Given the description of an element on the screen output the (x, y) to click on. 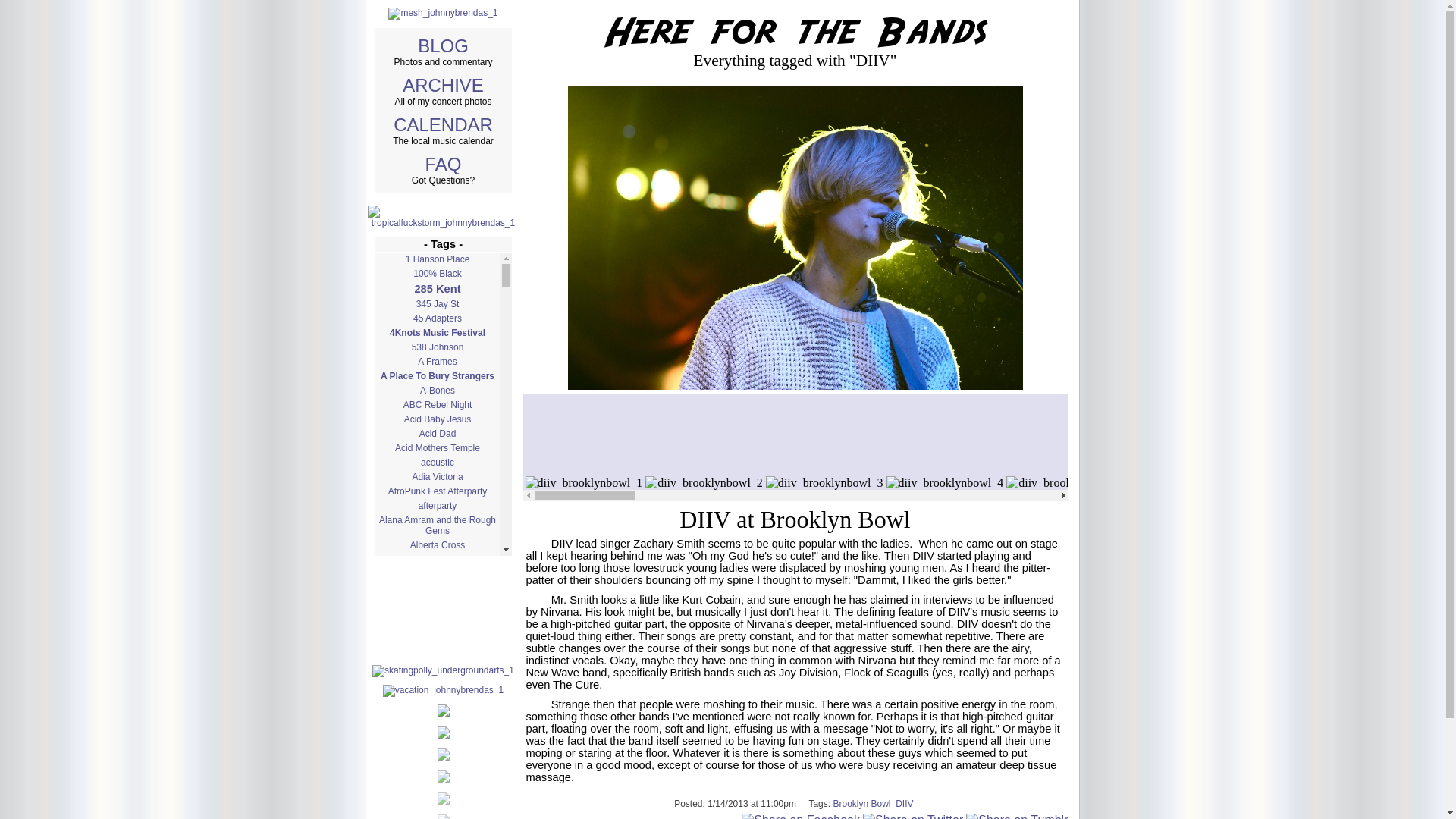
45 Adapters (436, 318)
Adia Victoria (436, 477)
A Place To Bury Strangers (436, 376)
Alex Battles (436, 588)
BLOG (442, 46)
announcement (436, 739)
afterparty (436, 505)
A-Bones (436, 390)
ARCHIVE (443, 85)
Algiers (436, 627)
538 Johnson (436, 346)
4Knots Music Festival (436, 332)
Alex Battles and the Whiskey Rebellion (436, 607)
Acid Dad (436, 433)
Acid Baby Jesus (436, 418)
